Given the description of an element on the screen output the (x, y) to click on. 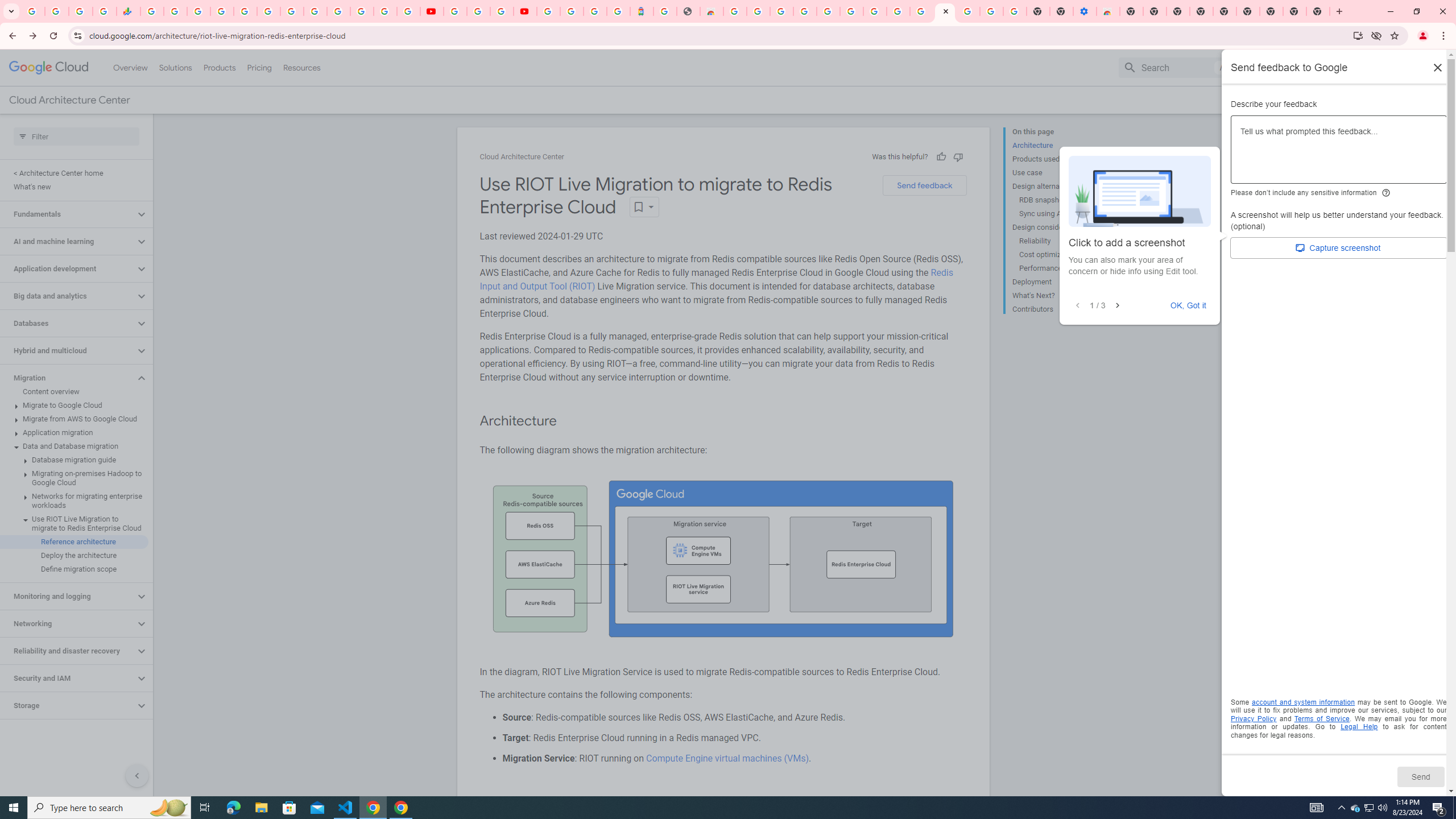
Atour Hotel - Google hotels (641, 11)
What's Next? (1058, 295)
Opens in a new tab. Privacy Policy (1253, 718)
Design alternatives (1058, 186)
Hybrid and multicloud (67, 350)
Overview (130, 67)
What's new (74, 187)
Not helpful (957, 156)
Redis Input and Output Tool (RIOT) (716, 278)
Define migration scope (74, 568)
Android TV Policies and Guidelines - Transparency Center (291, 11)
Sign in - Google Accounts (338, 11)
Migrating on-premises Hadoop to Google Cloud (74, 477)
Ad Settings (804, 11)
